Given the description of an element on the screen output the (x, y) to click on. 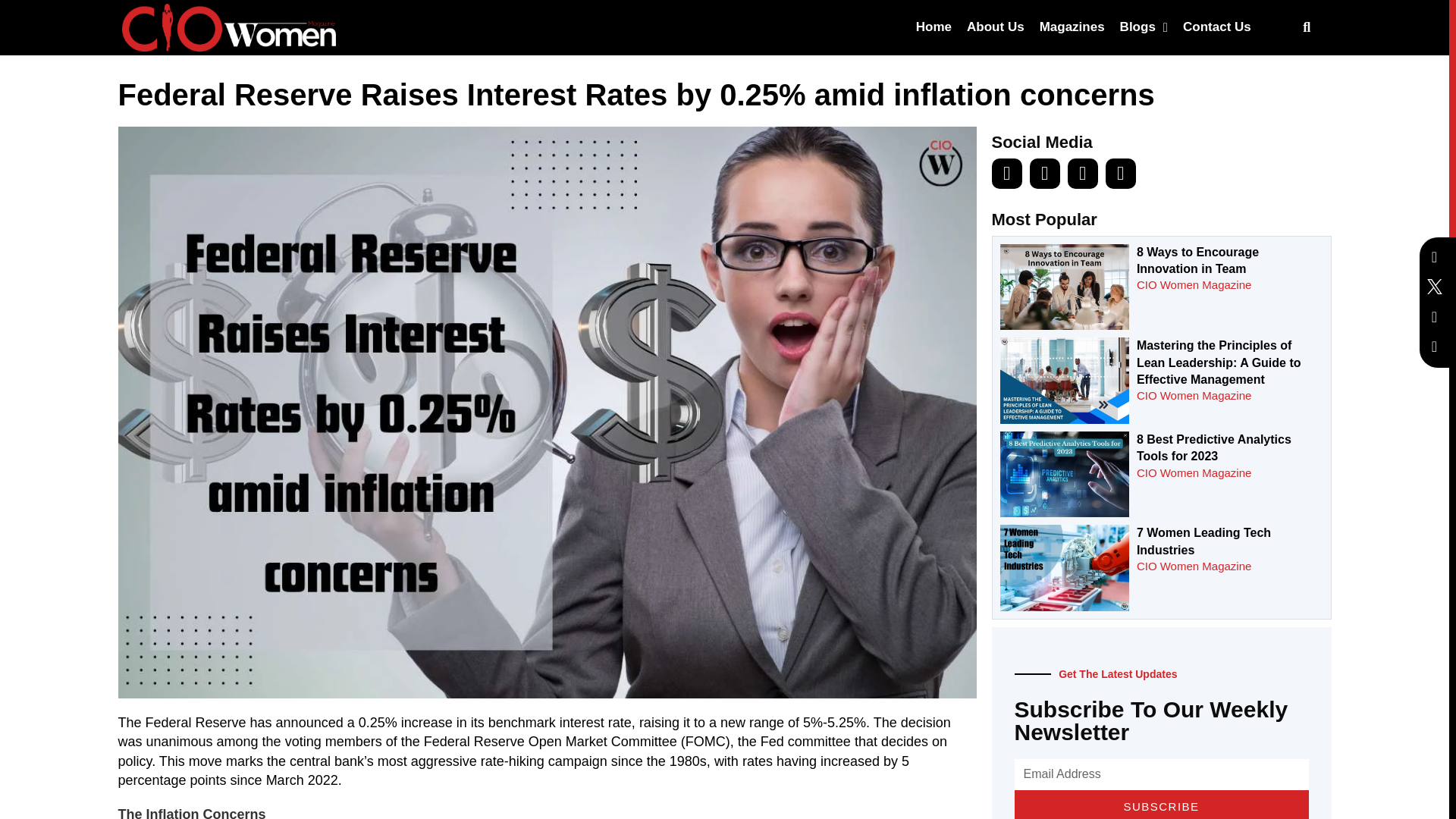
Magazines (1072, 27)
Home (933, 27)
About Us (995, 27)
Contact Us (1216, 27)
Blogs (1143, 27)
